Given the description of an element on the screen output the (x, y) to click on. 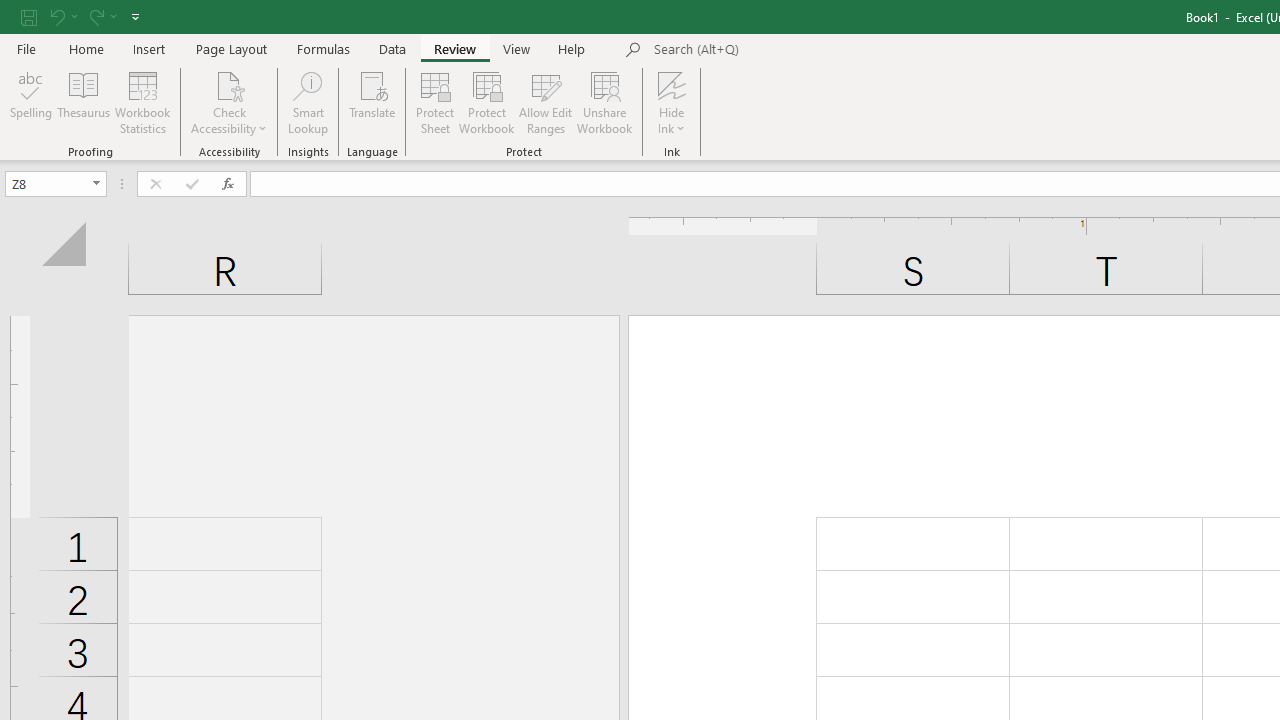
Translate (372, 102)
Workbook Statistics (142, 102)
